Given the description of an element on the screen output the (x, y) to click on. 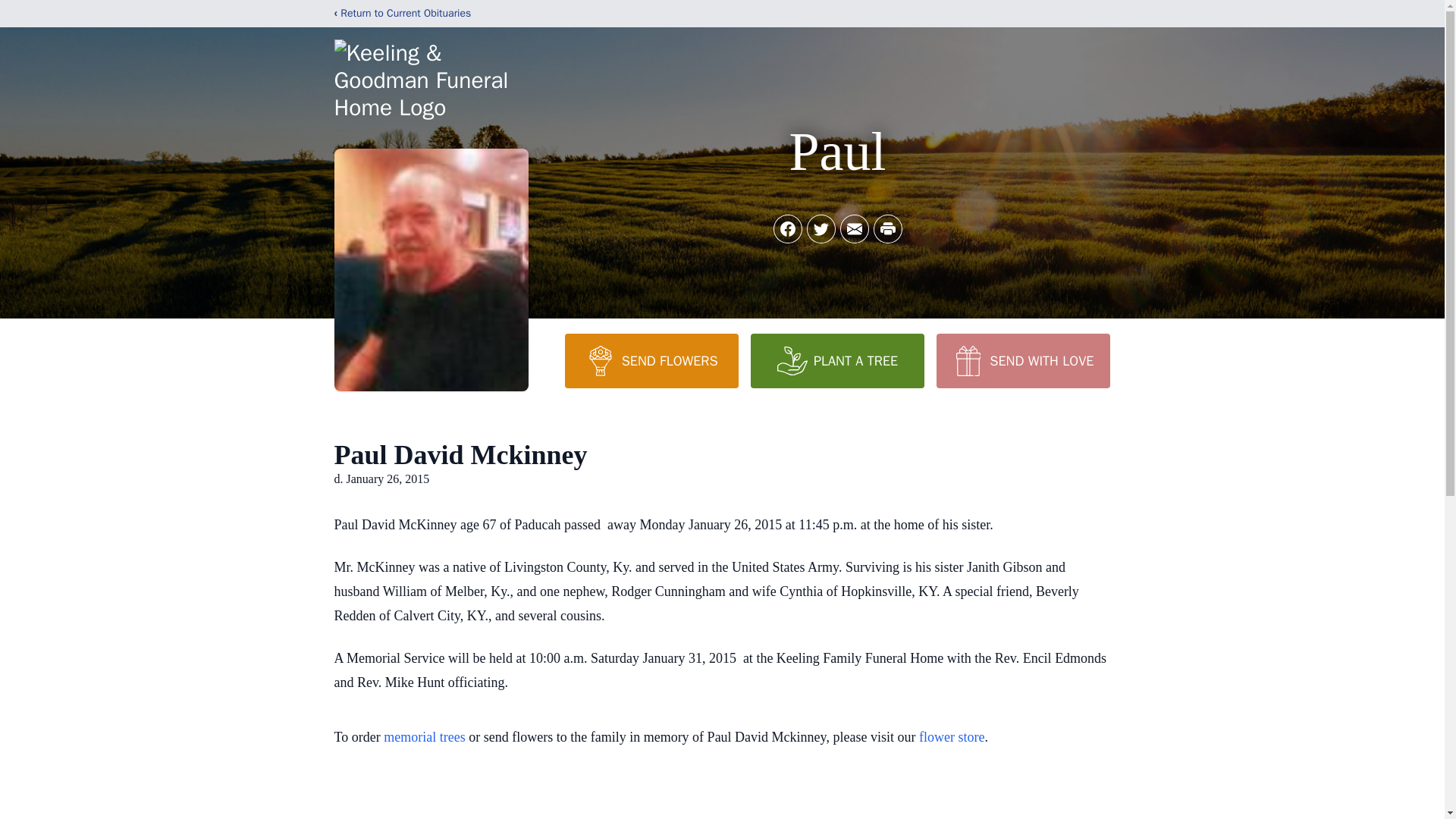
PLANT A TREE (837, 360)
flower store (951, 736)
SEND WITH LOVE (1022, 360)
SEND FLOWERS (651, 360)
memorial trees (424, 736)
